Given the description of an element on the screen output the (x, y) to click on. 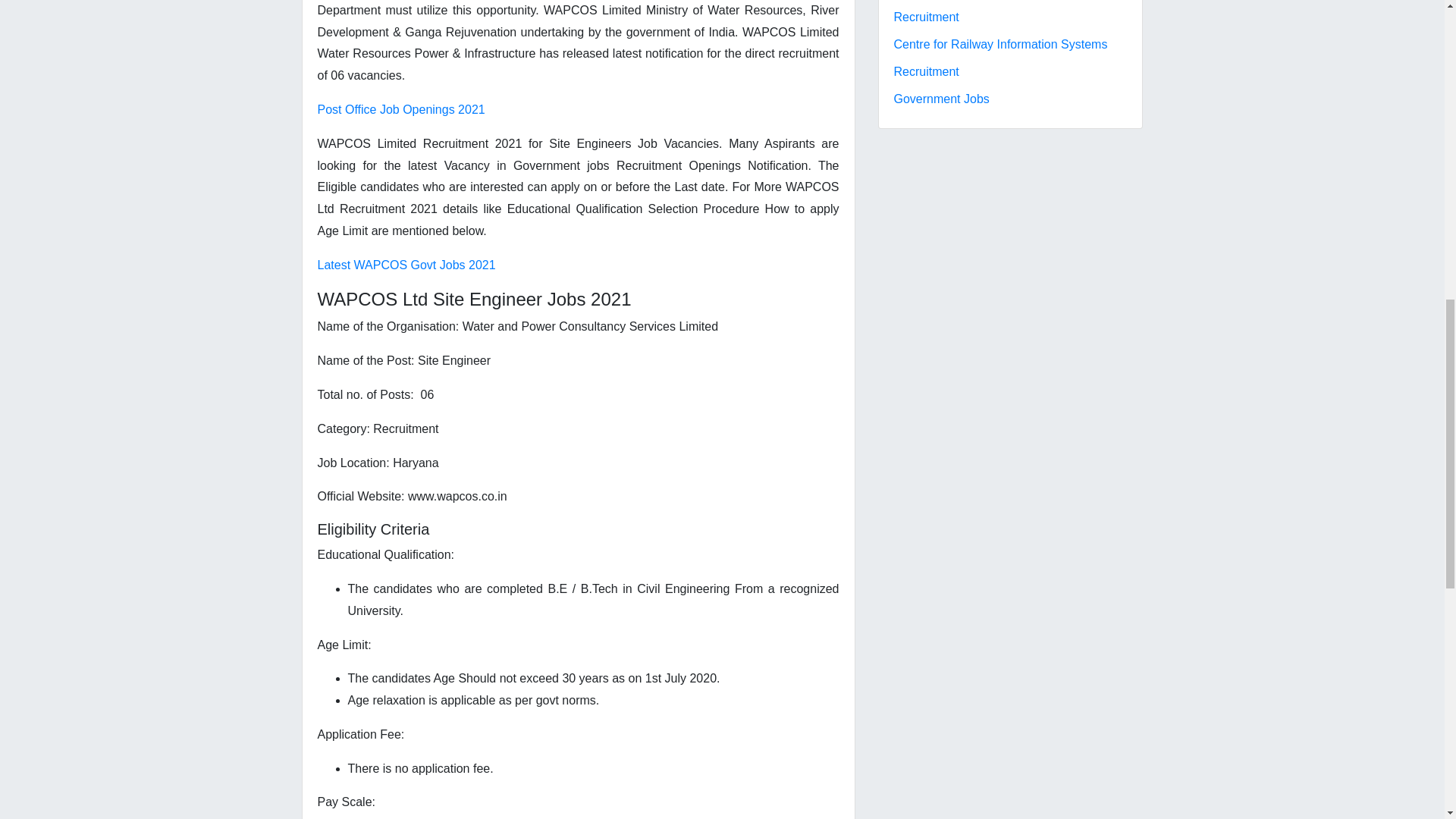
38926 GDS Vacancies - Post Office Recruitment (988, 11)
Government Jobs (940, 98)
Post Office Job Openings 2021 (400, 109)
Centre for Railway Information Systems Recruitment (999, 57)
Latest WAPCOS Govt Jobs 2021 (406, 264)
